Given the description of an element on the screen output the (x, y) to click on. 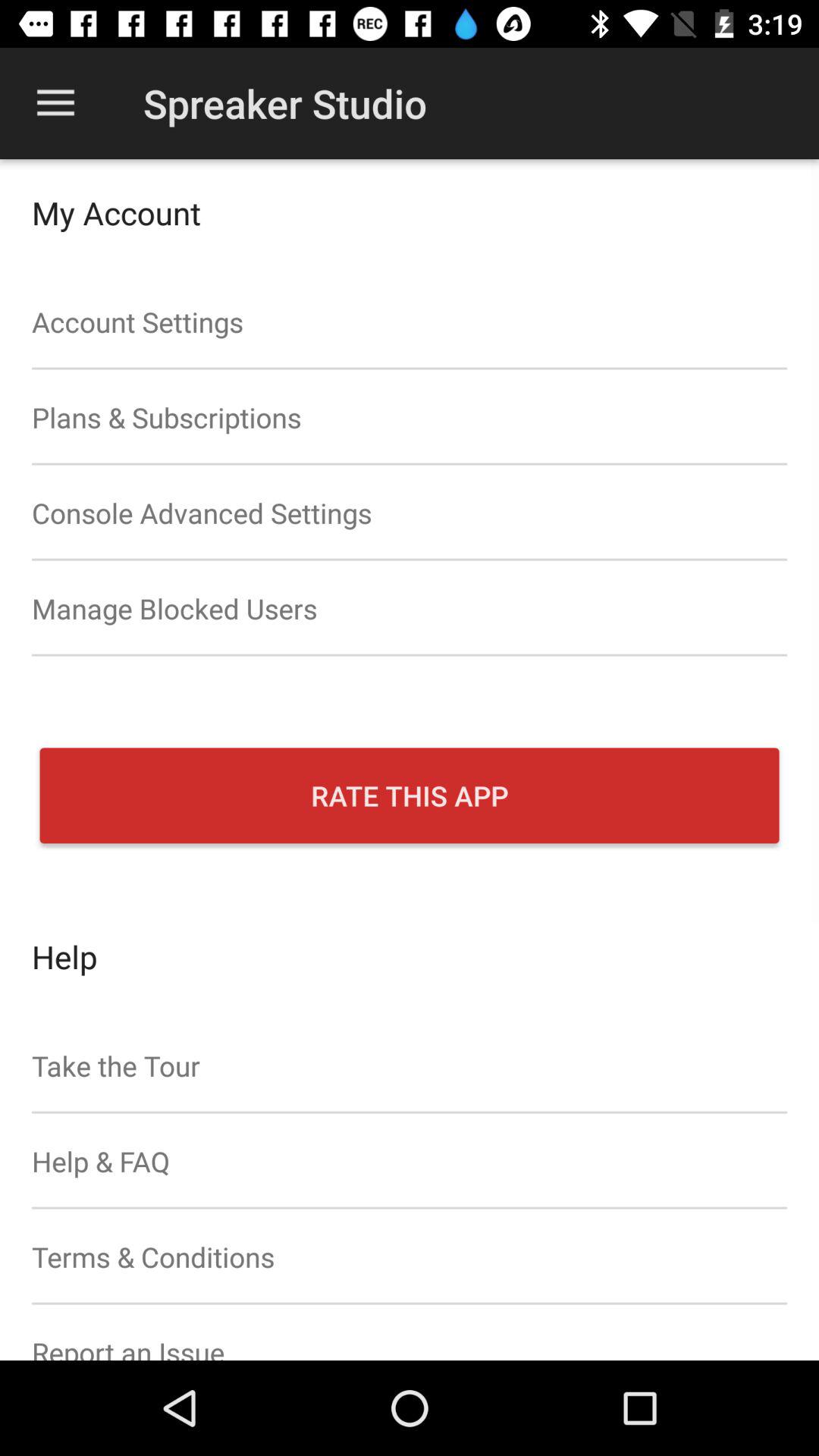
open app next to spreaker studio (55, 103)
